Given the description of an element on the screen output the (x, y) to click on. 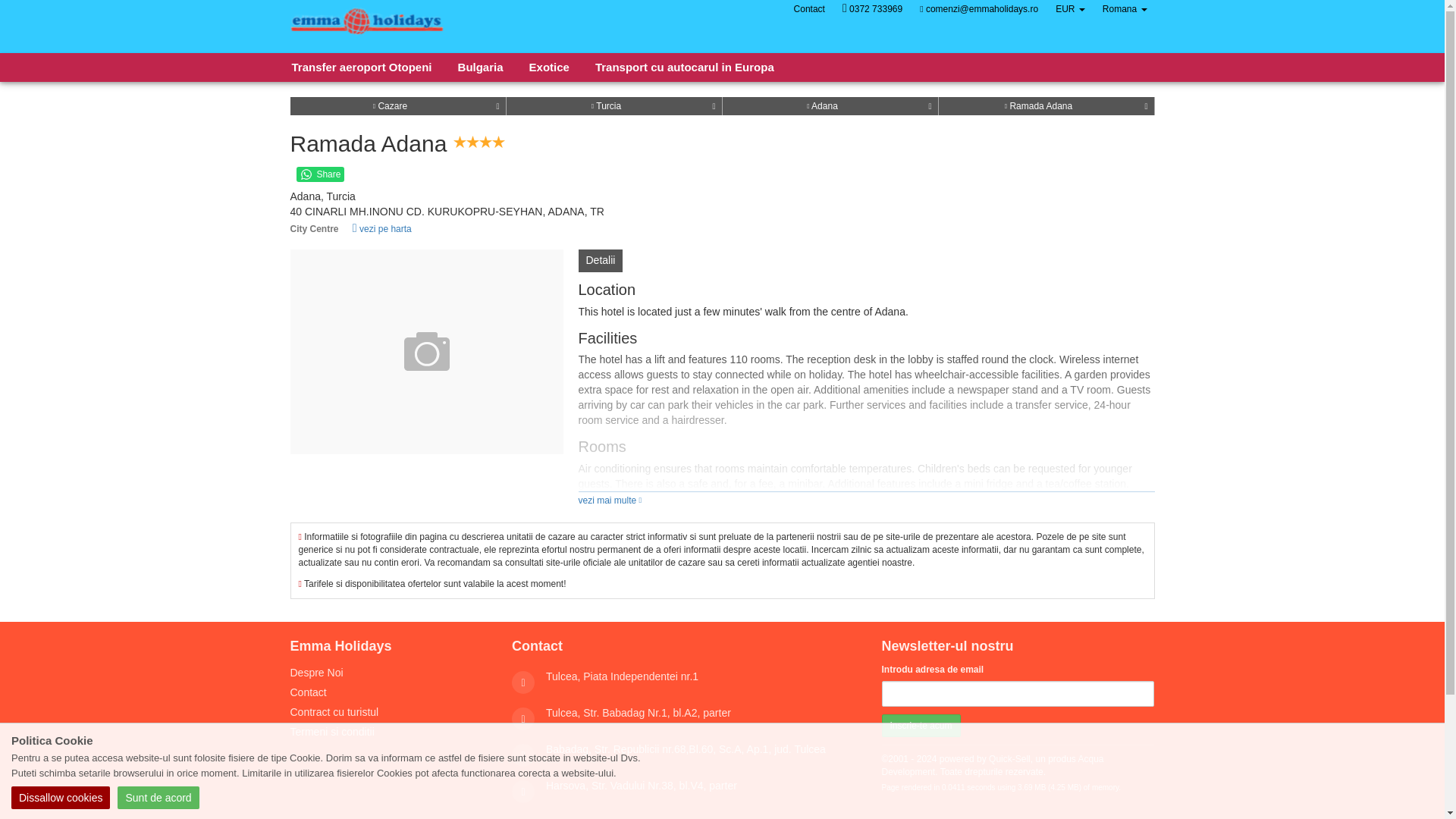
Despre Noi (315, 672)
Contact (809, 9)
0372 733969 (872, 9)
Quick-Sell (1009, 758)
Acqua Development (991, 765)
Quick-Sell Logo (367, 26)
Cazare (389, 105)
Harsova, Str. Vadului Nr.38, bl.V4, parter (641, 785)
vezi mai multe (610, 500)
Tulcea, Str. Babadag Nr.1, bl.A2, parter (638, 712)
